Given the description of an element on the screen output the (x, y) to click on. 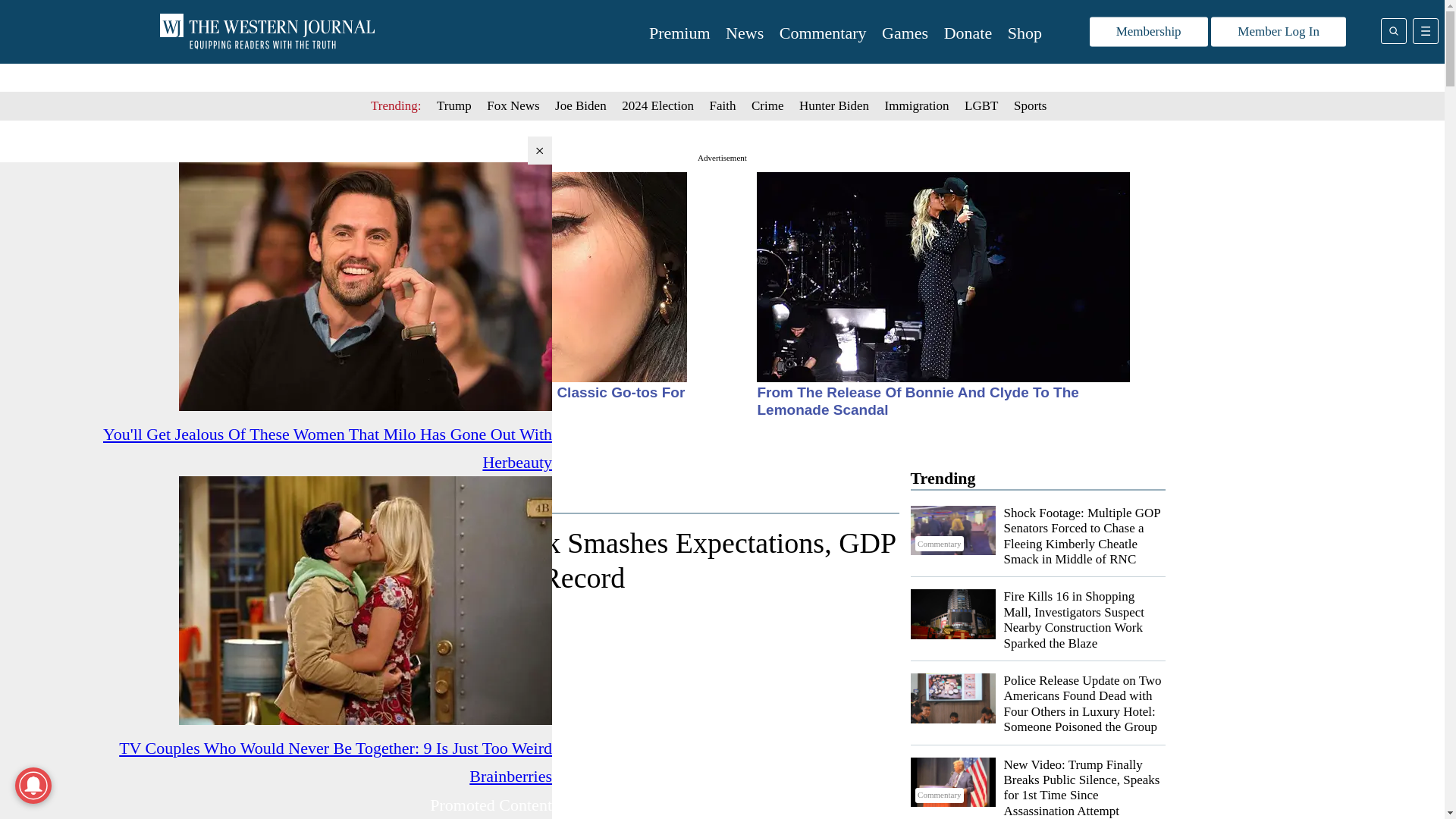
Commentary (822, 32)
Trump (453, 105)
Joe Biden (580, 105)
9 Gorgeous Looks That Have Been Classic Go-tos For Decades (499, 400)
Fox News (512, 105)
2024 Election (657, 105)
Commentary (952, 531)
Member Log In (1278, 31)
Hunter Biden (834, 105)
Shop (1024, 32)
Faith (723, 105)
Sports (1029, 105)
Immigration (917, 105)
News (743, 32)
